Given the description of an element on the screen output the (x, y) to click on. 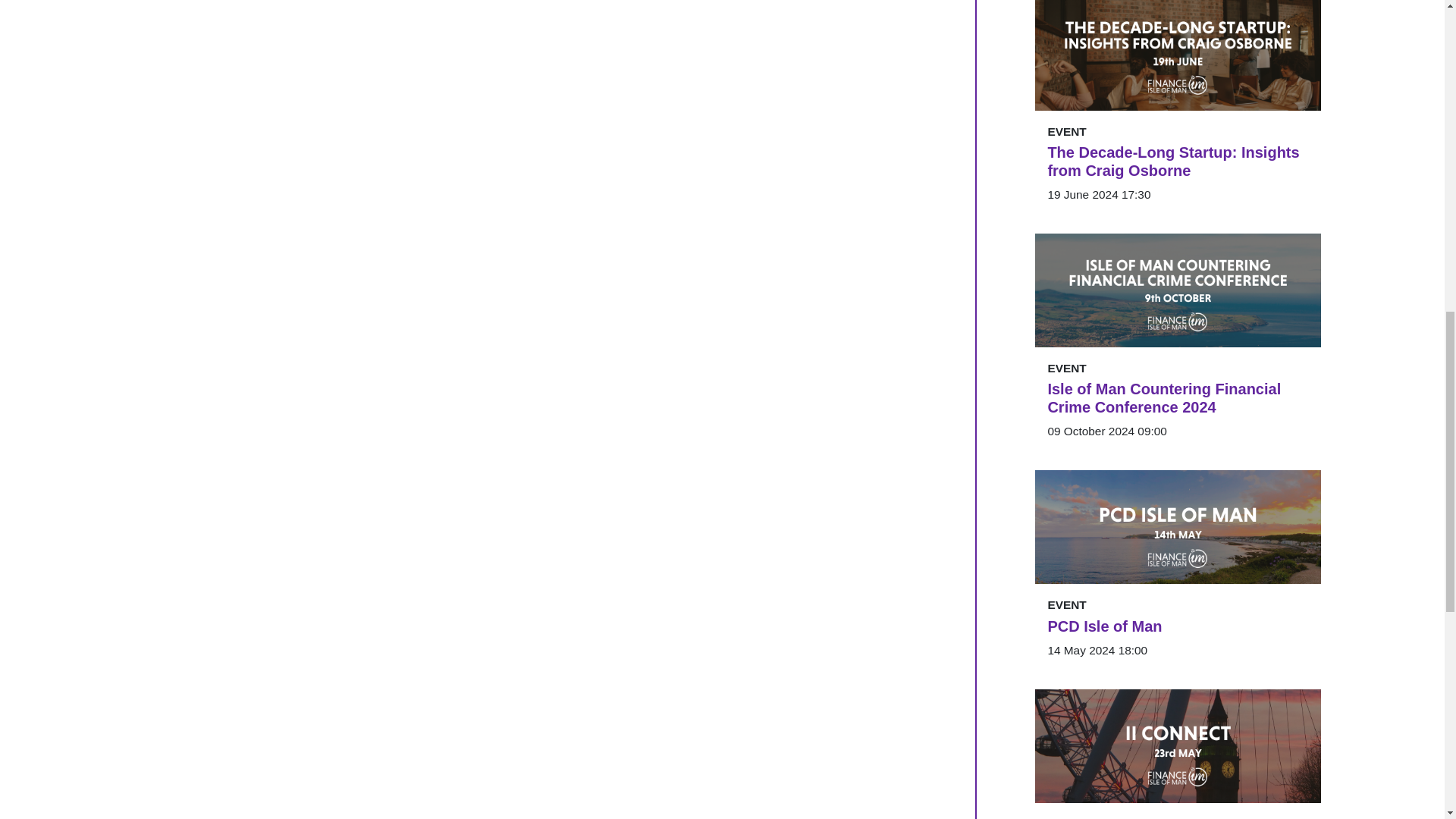
The Decade-Long Startup: Insights from Craig Osborne (1177, 161)
Isle of Man Countering Financial Crime Conference 2024 (1177, 398)
PCD Isle of Man (1177, 626)
